Given the description of an element on the screen output the (x, y) to click on. 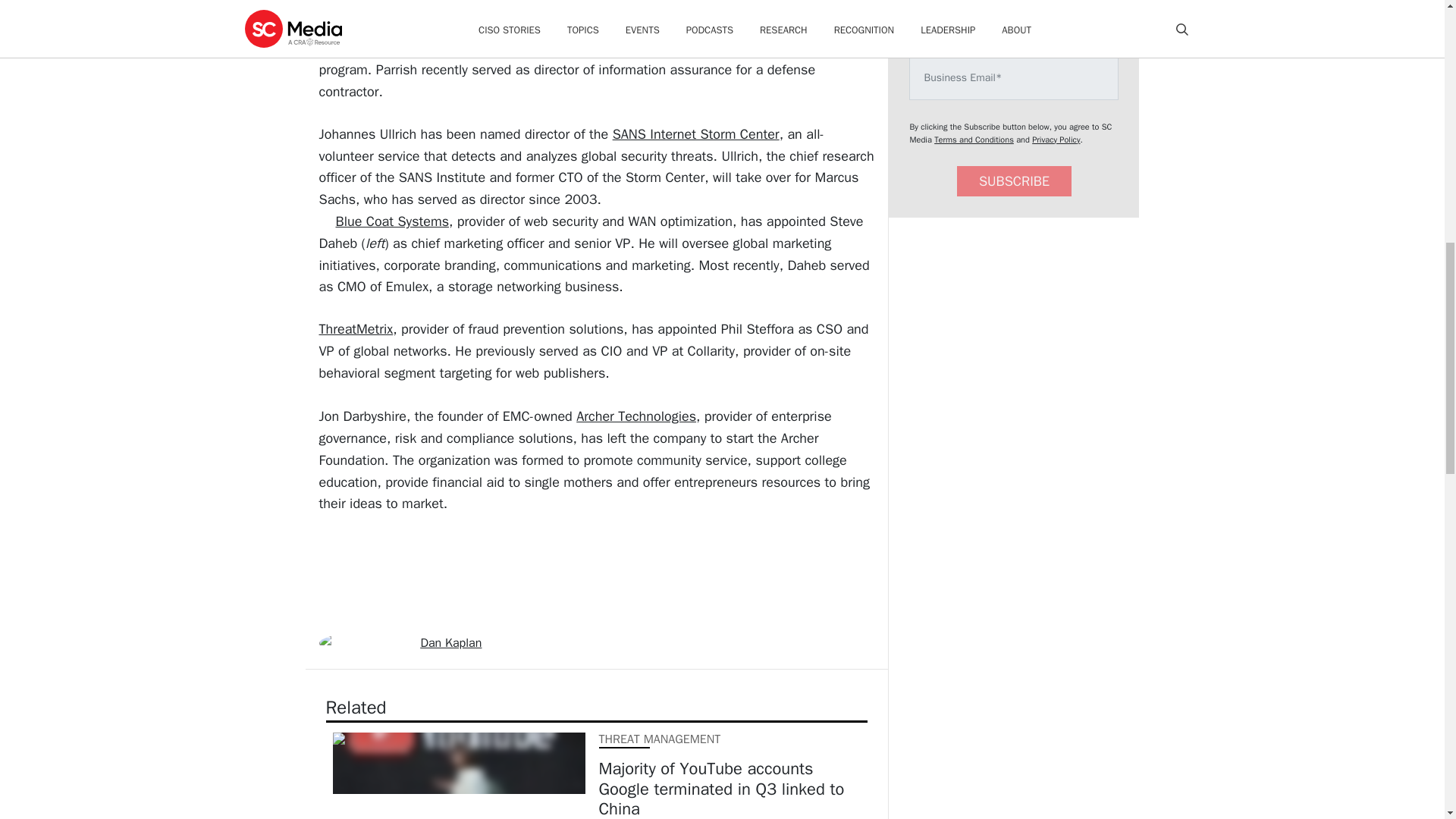
ThreatMetrix (355, 329)
Archer Technologies (635, 416)
SUBSCRIBE (1013, 181)
SANS Internet Storm Center (695, 134)
THREAT MANAGEMENT (659, 739)
Dan Kaplan (450, 642)
Privacy Policy (1056, 139)
Parsons (479, 26)
Terms and Conditions (973, 139)
Blue Coat Systems (391, 221)
